Given the description of an element on the screen output the (x, y) to click on. 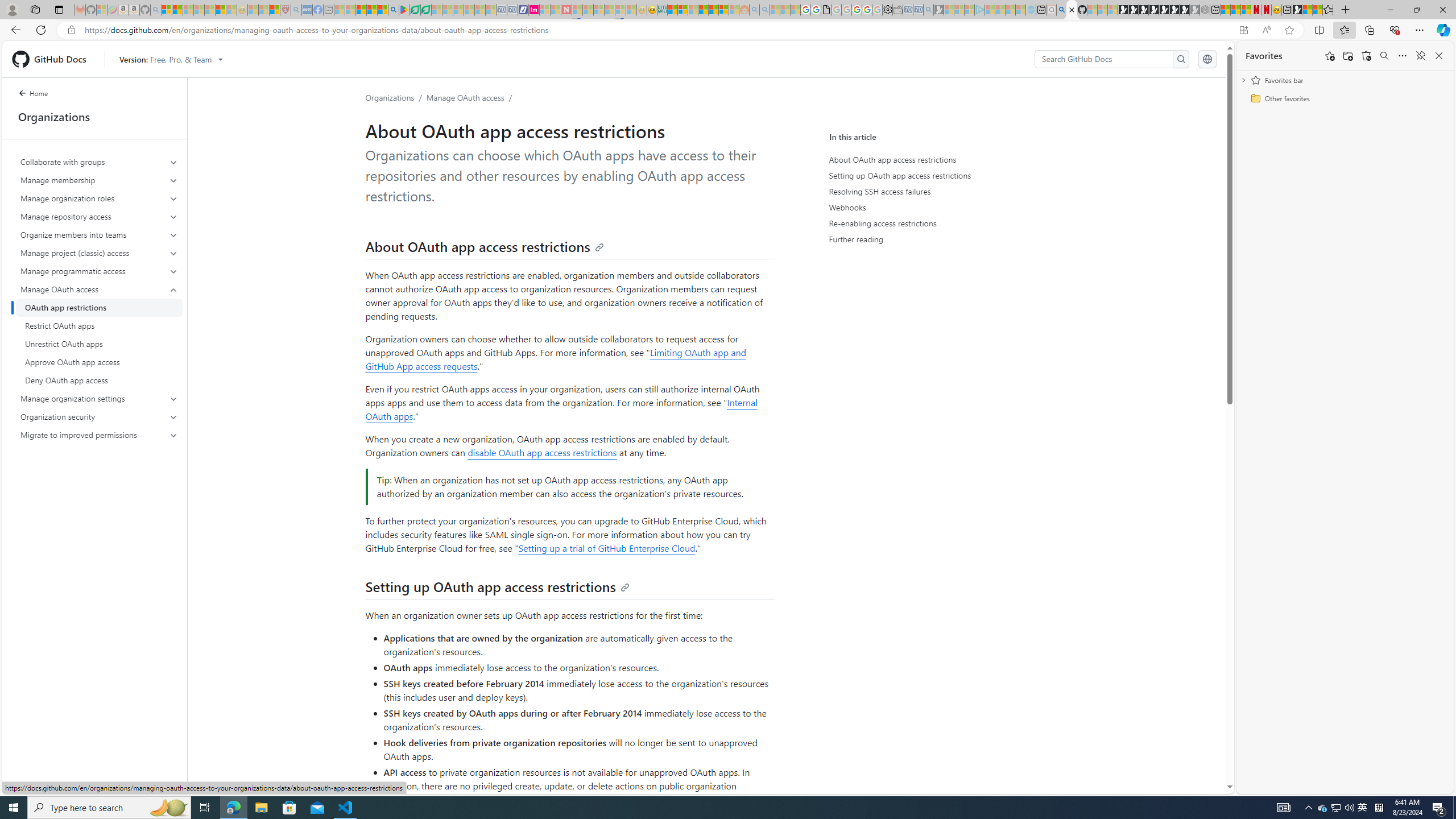
Add folder (1347, 55)
Setting up OAuth app access restrictions (496, 586)
Setting up a trial of GitHub Enterprise Cloud (606, 548)
Manage OAuth access (99, 289)
Manage repository access (99, 216)
Expert Portfolios (703, 9)
Manage OAuth access (464, 97)
